Given the description of an element on the screen output the (x, y) to click on. 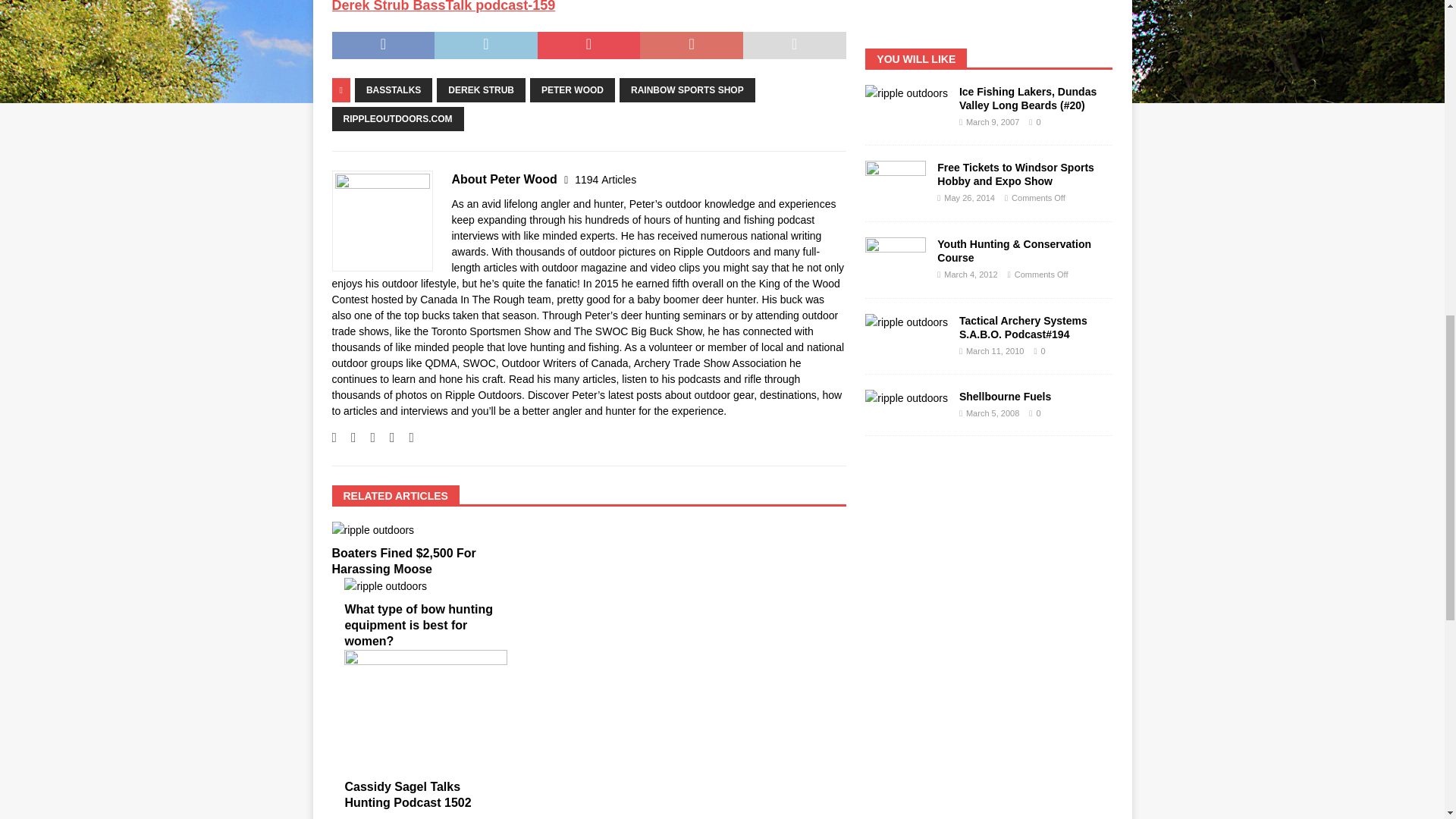
Derek Strub BassTalk podcast-159 (443, 6)
